Given the description of an element on the screen output the (x, y) to click on. 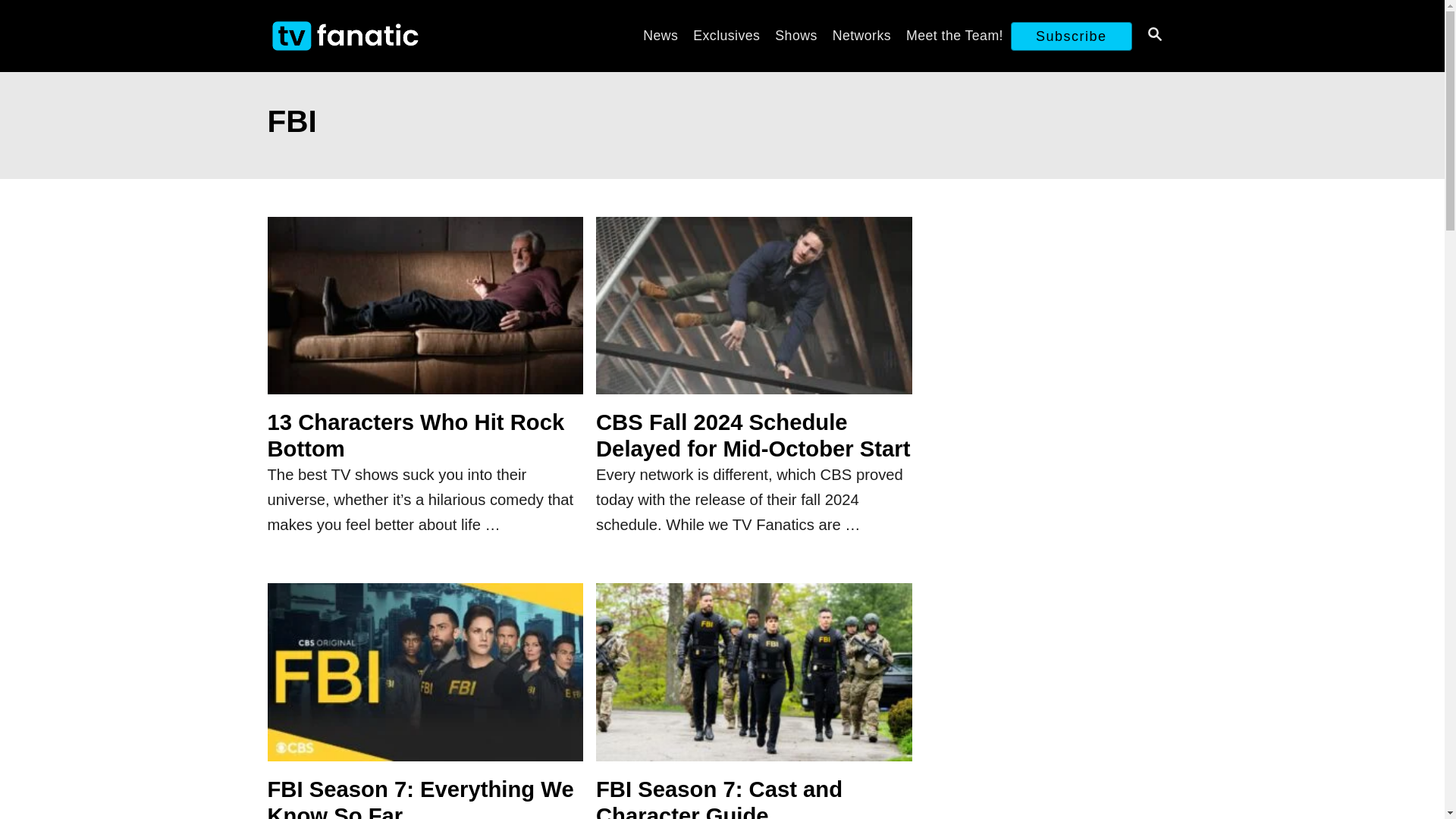
FBI Season 7: Everything We Know So Far (424, 679)
TV Fanatic (403, 36)
13 Characters Who Hit Rock Bottom (424, 313)
Shows (795, 35)
Exclusives (726, 35)
Networks (861, 35)
CBS Fall 2024 Schedule Delayed for Mid-October Start (753, 313)
News (659, 35)
SEARCH (1153, 35)
FBI Season 7: Cast and Character Guide (753, 679)
